Given the description of an element on the screen output the (x, y) to click on. 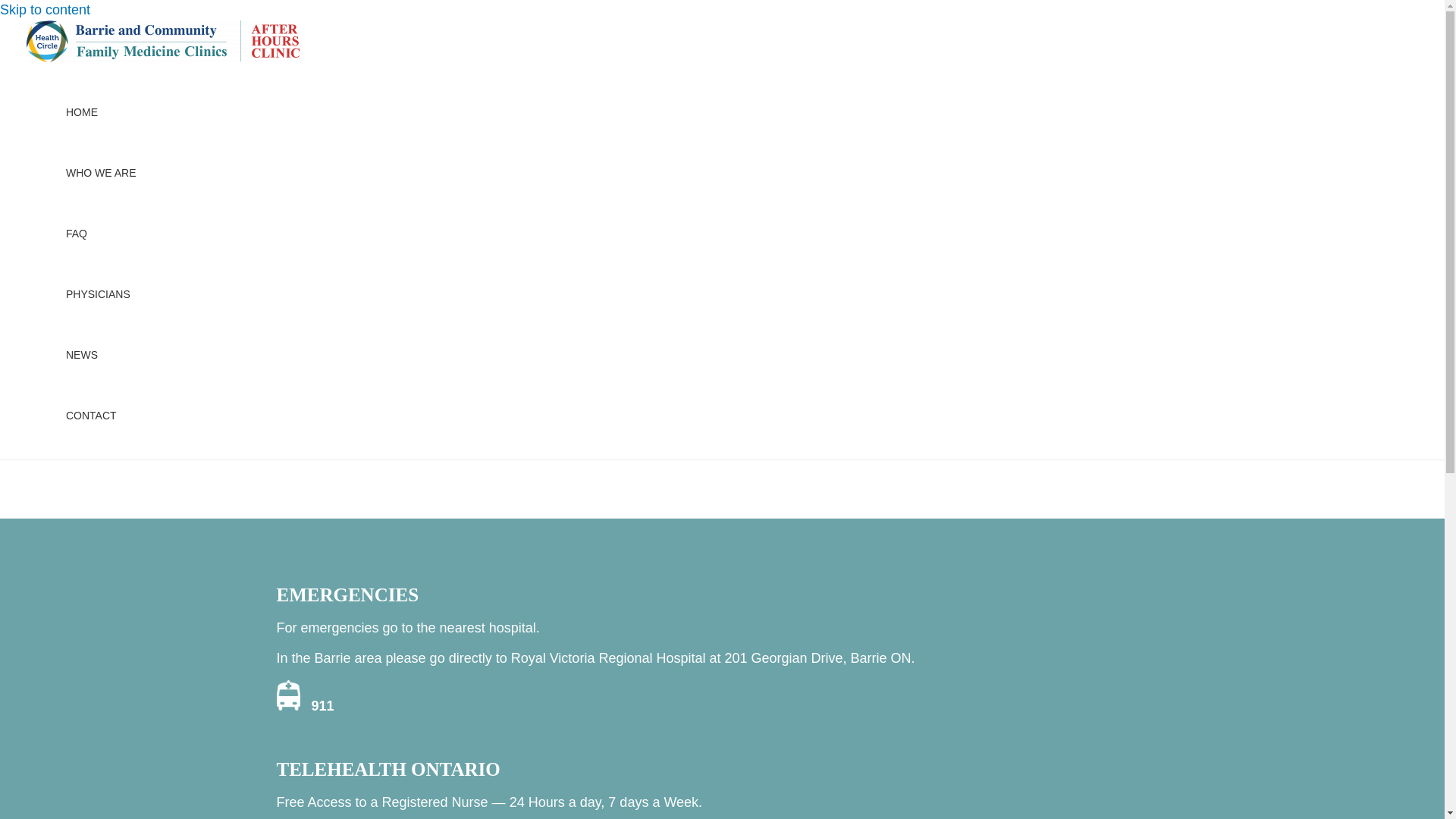
CONTACT Element type: text (100, 415)
View Map and Directions Element type: text (90, 265)
PHYSICIANS Element type: text (100, 293)
NEWS Element type: text (100, 354)
FAQ Element type: text (100, 233)
Skip to content Element type: text (45, 9)
HOME Element type: text (100, 111)
WHO WE ARE Element type: text (100, 172)
